Given the description of an element on the screen output the (x, y) to click on. 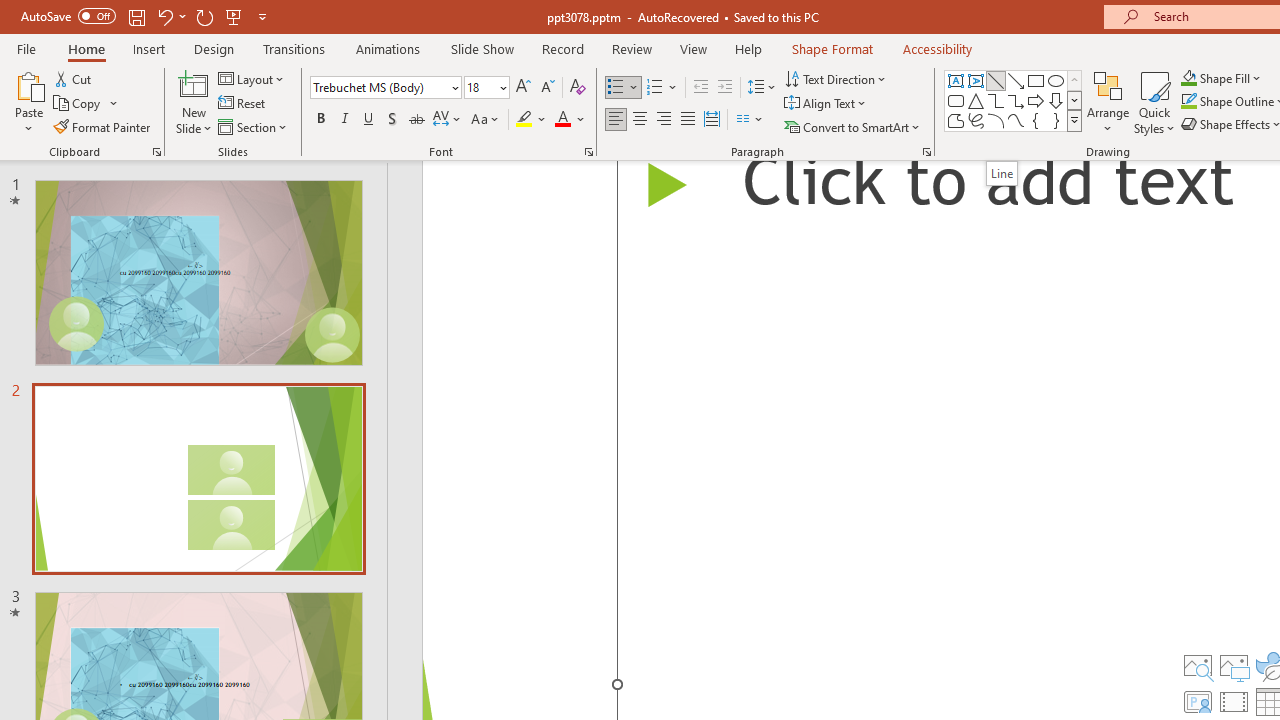
Arrow: Down (1055, 100)
Copy (78, 103)
Oval (1055, 80)
Numbering (661, 87)
Right Brace (1055, 120)
Arrange (1108, 102)
Pictures (1234, 665)
Paste (28, 102)
New Slide (193, 102)
